Given the description of an element on the screen output the (x, y) to click on. 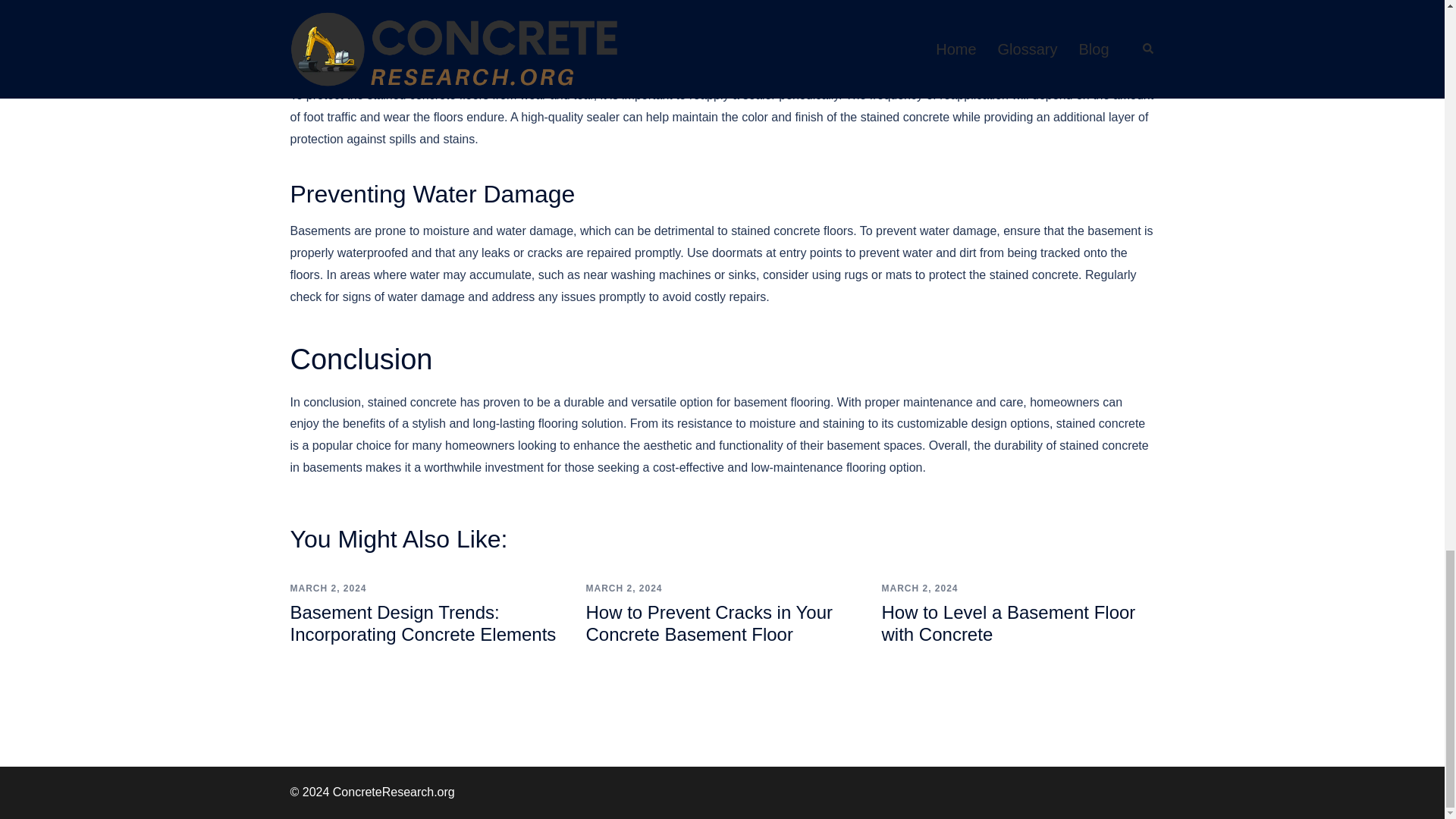
MARCH 2, 2024 (327, 588)
Basement Design Trends: Incorporating Concrete Elements (422, 622)
MARCH 2, 2024 (919, 588)
How to Level a Basement Floor with Concrete (1007, 622)
How to Prevent Cracks in Your Concrete Basement Floor (708, 622)
MARCH 2, 2024 (623, 588)
